Given the description of an element on the screen output the (x, y) to click on. 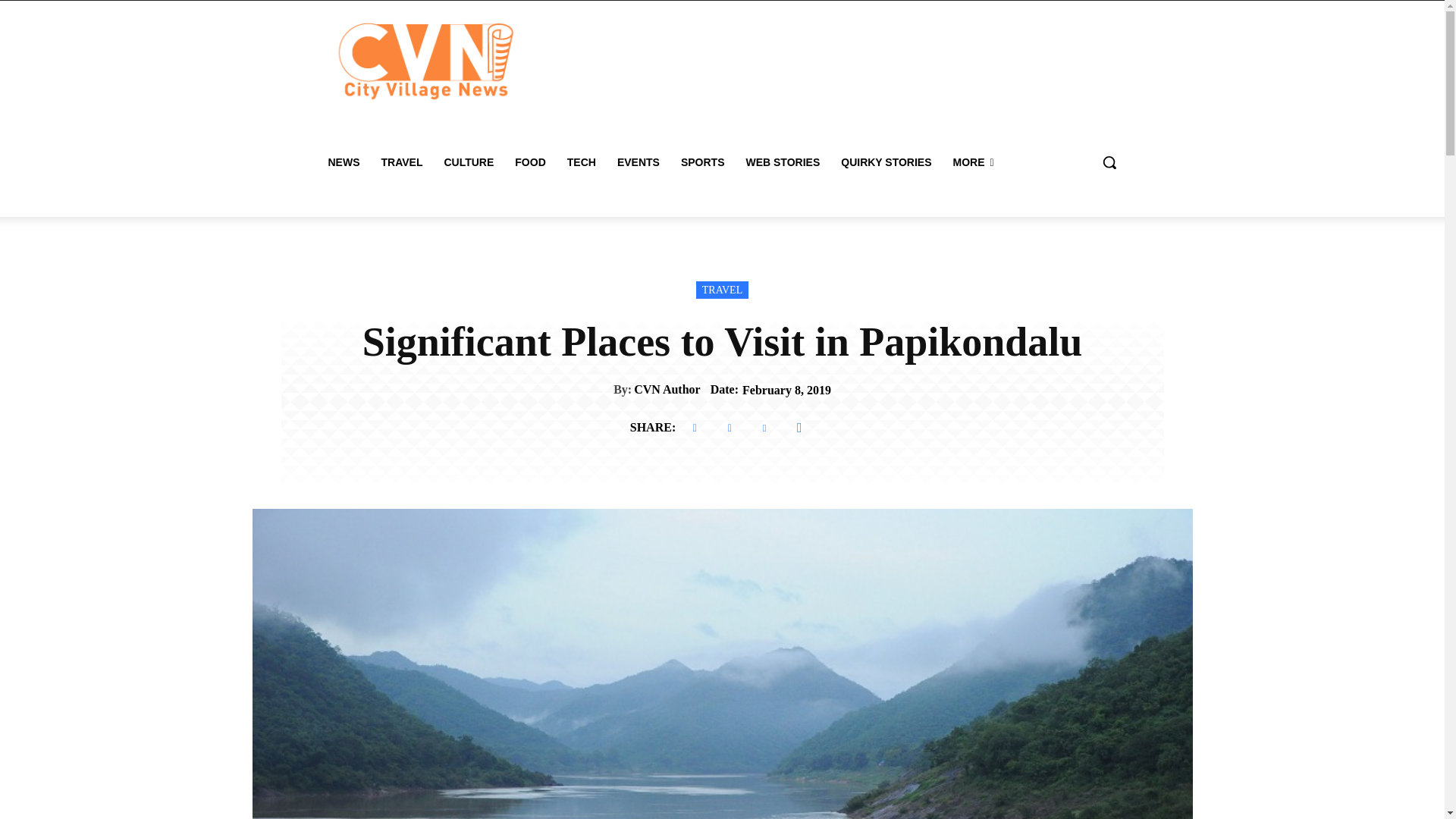
WEB STORIES (782, 162)
EVENTS (638, 162)
TRAVEL (400, 162)
WhatsApp (798, 427)
FOOD (529, 162)
CULTURE (467, 162)
TECH (581, 162)
SPORTS (702, 162)
Facebook (694, 427)
QUIRKY STORIES (885, 162)
CVN Author (666, 389)
TRAVEL (721, 289)
Twitter (729, 427)
NEWS (343, 162)
MORE (973, 162)
